Given the description of an element on the screen output the (x, y) to click on. 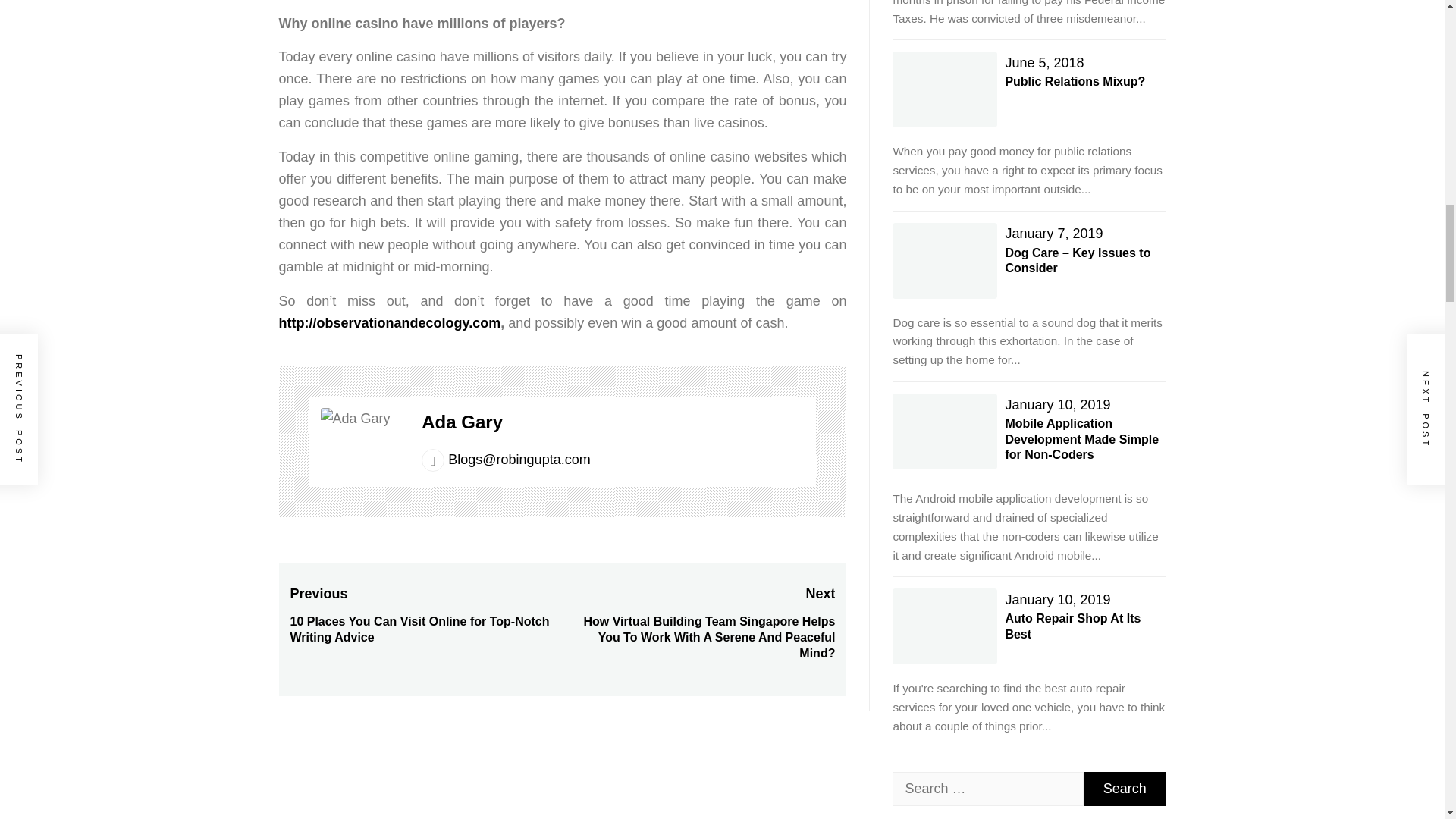
Search (1124, 788)
Search (1124, 788)
Ada Gary (462, 421)
